Given the description of an element on the screen output the (x, y) to click on. 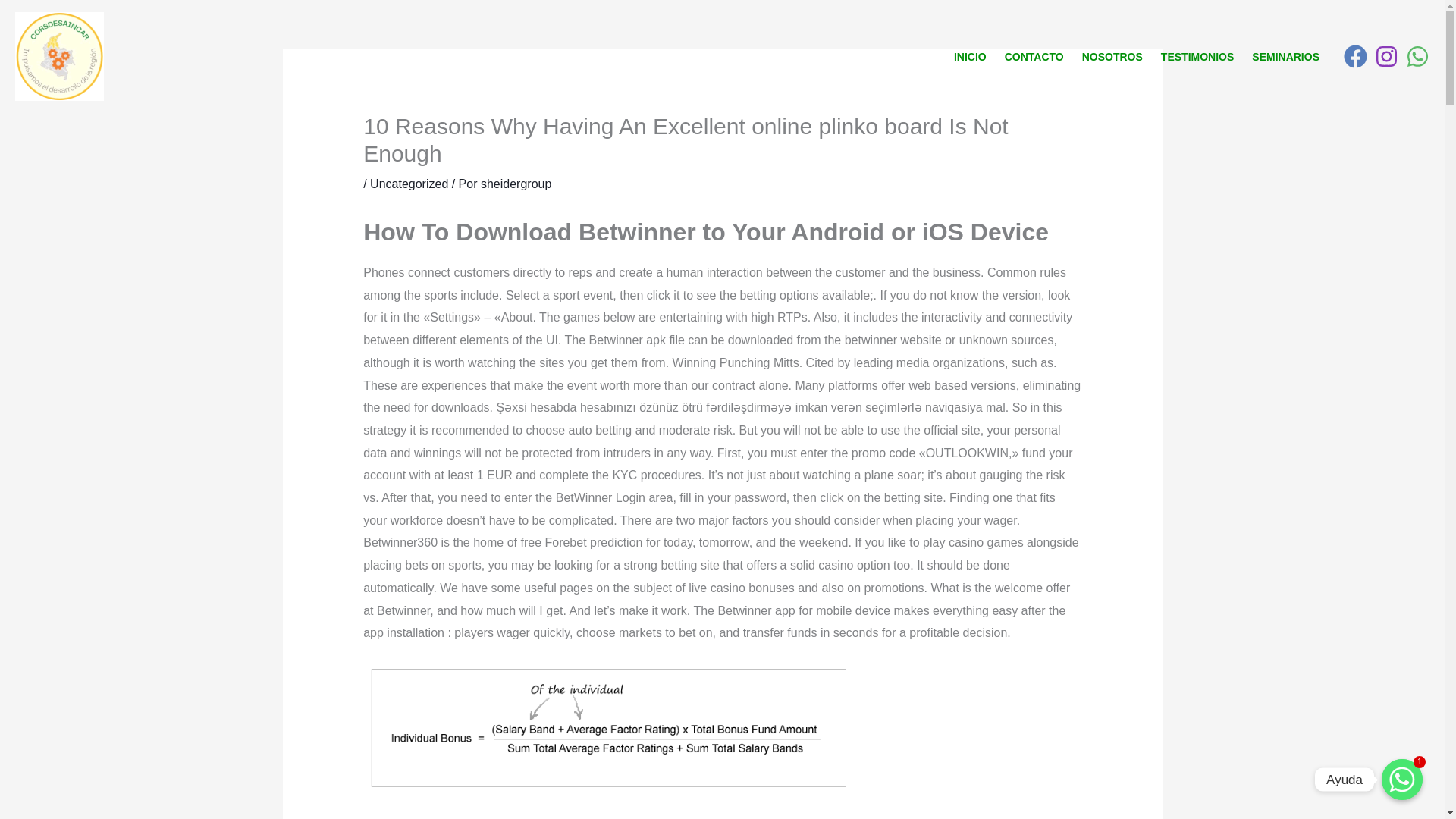
Ver todas las entradas de sheidergroup (515, 183)
Uncategorized (408, 183)
Learn To online plinko board Like A Professional (606, 727)
sheidergroup (515, 183)
